Given the description of an element on the screen output the (x, y) to click on. 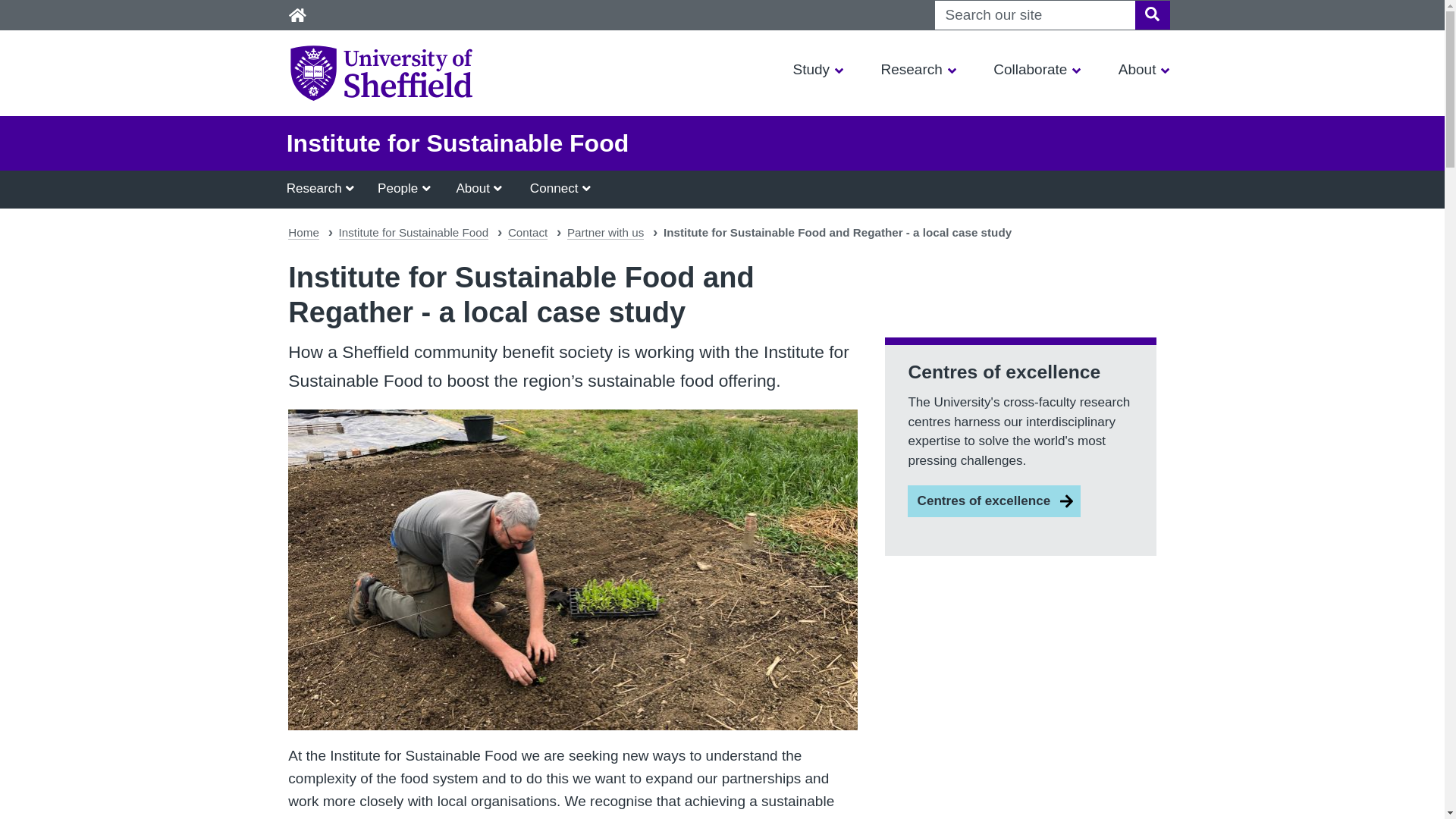
Home (296, 14)
Home (296, 14)
Home (296, 15)
